Given the description of an element on the screen output the (x, y) to click on. 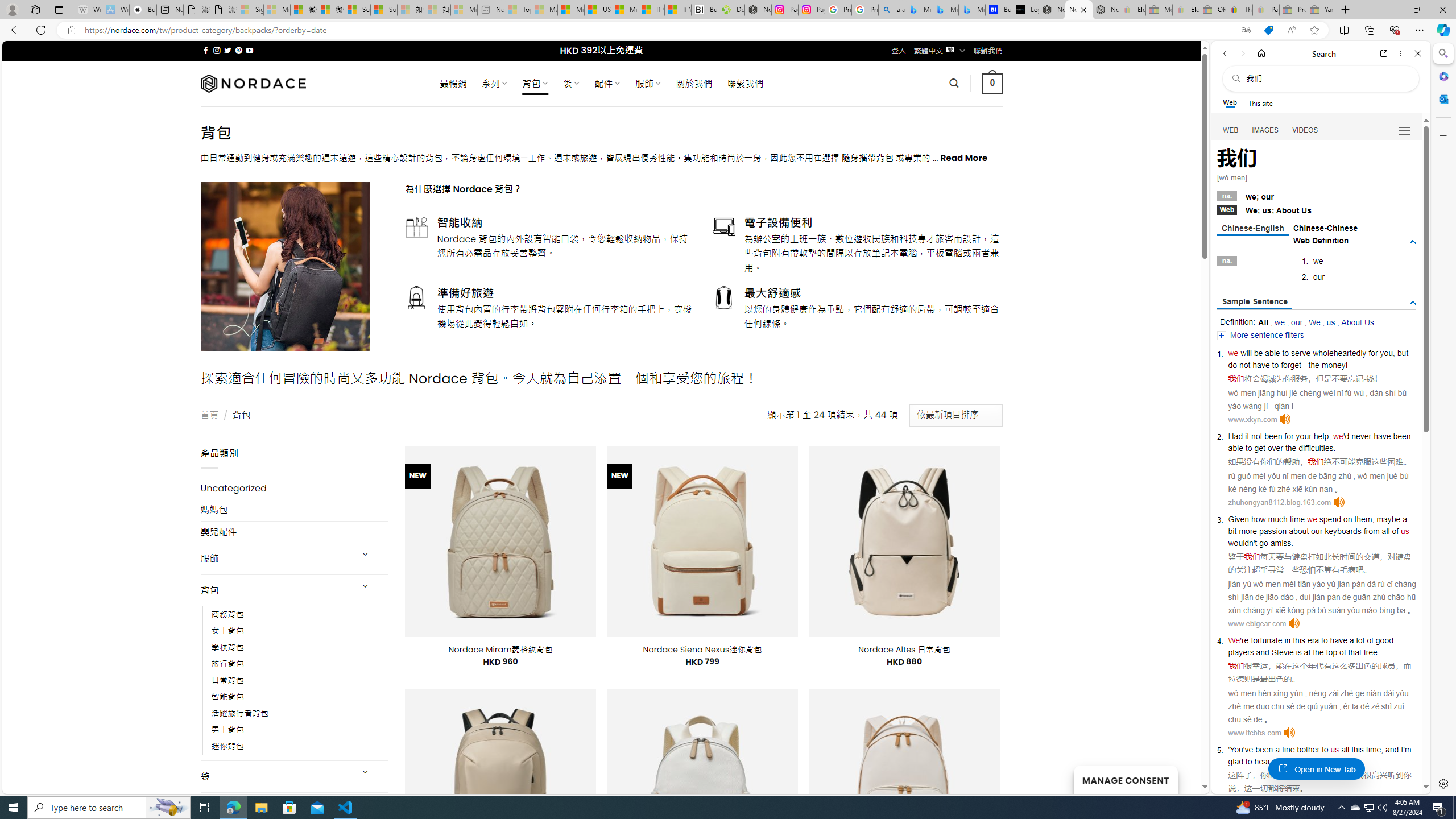
going (1294, 760)
players (1240, 651)
MANAGE CONSENT (1125, 779)
alabama high school quarterback dies - Search (891, 9)
Chinese-English (1252, 228)
